Given the description of an element on the screen output the (x, y) to click on. 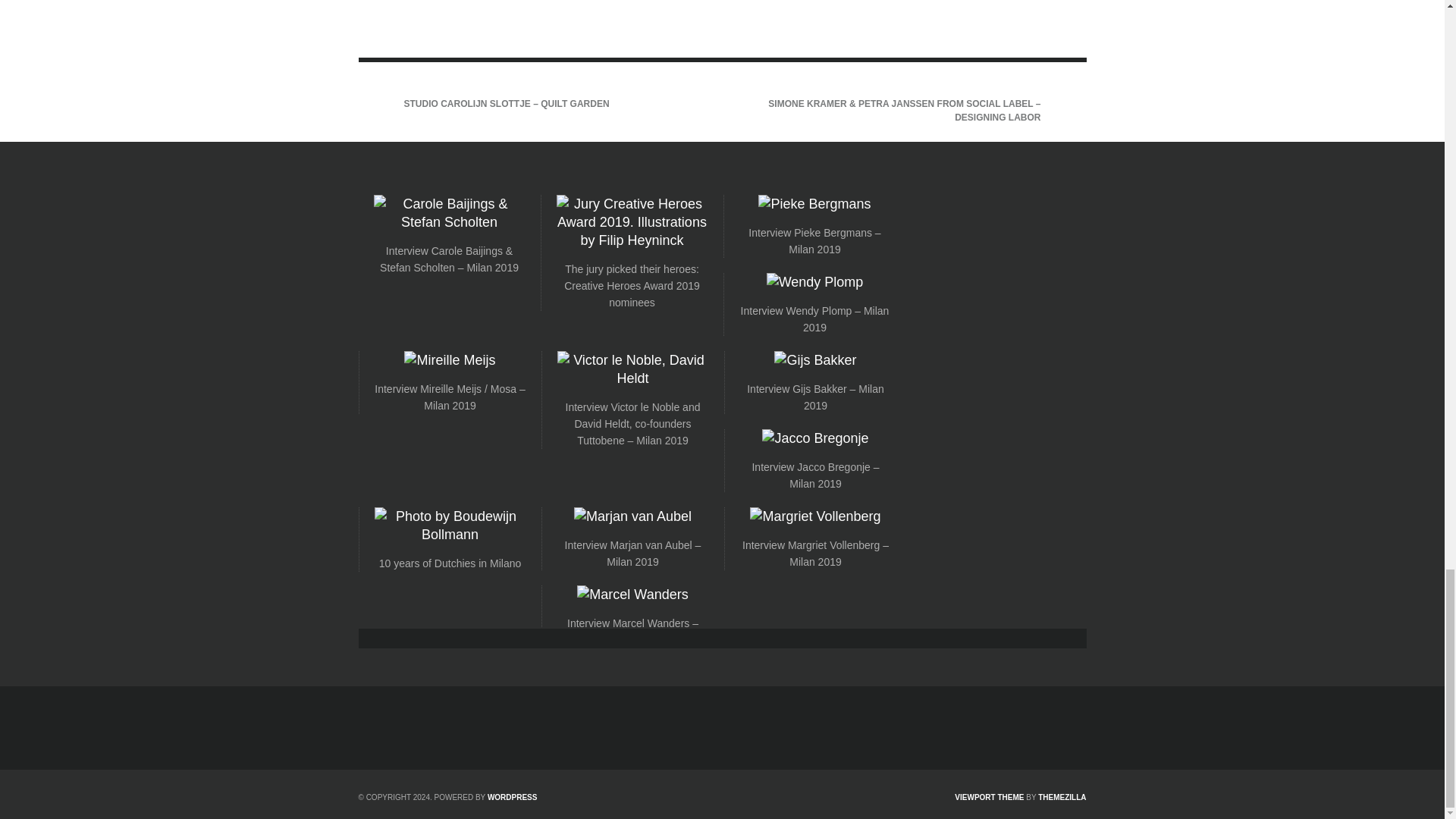
WORDPRESS (512, 797)
10 years of Dutchies in Milano (449, 563)
VIEWPORT THEME (989, 797)
Permanent Link to 10 years of Dutchies in Milano (449, 563)
THEMEZILLA (1062, 797)
